Given the description of an element on the screen output the (x, y) to click on. 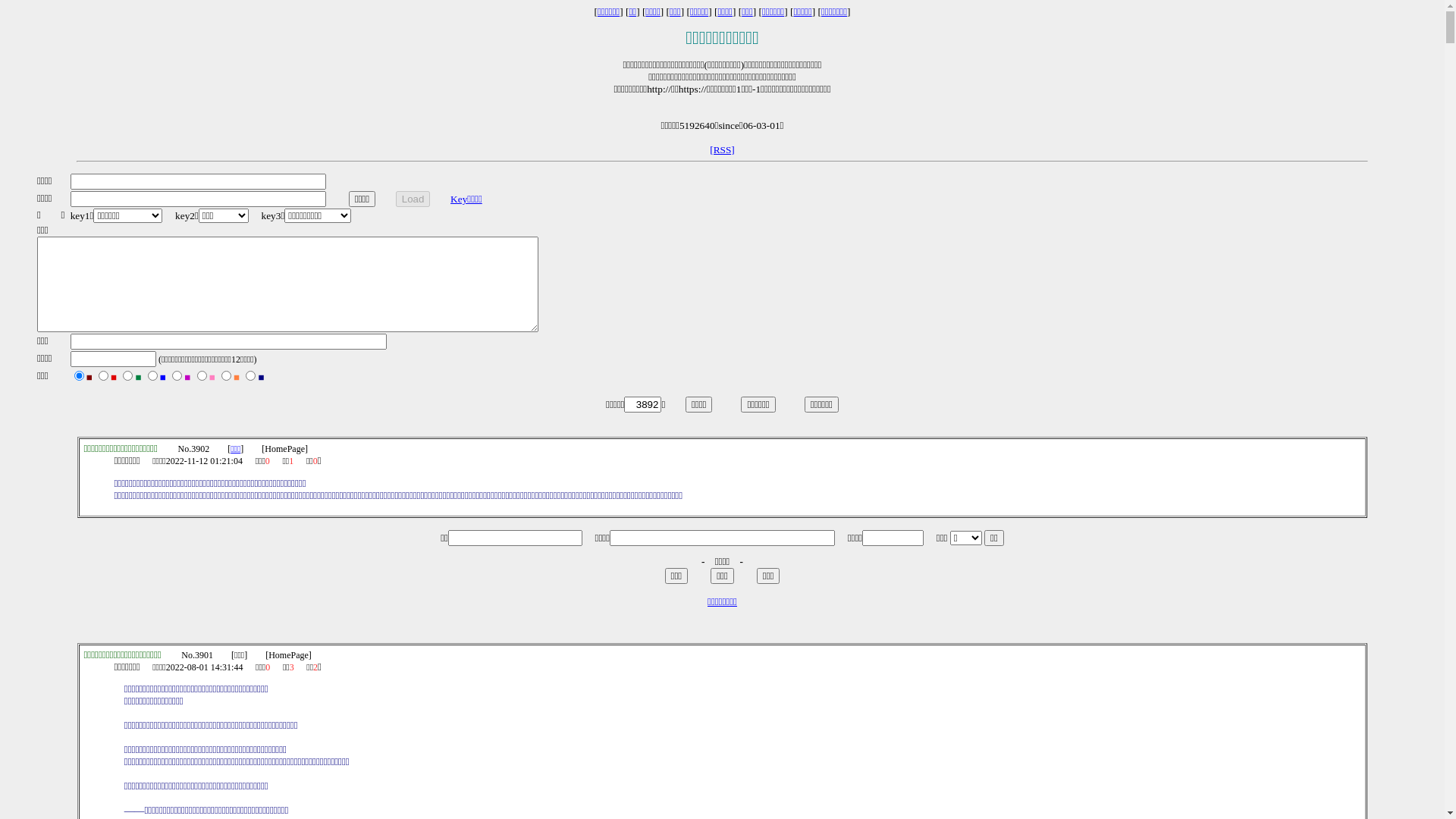
[RSS] Element type: text (721, 149)
Load Element type: text (412, 199)
